Given the description of an element on the screen output the (x, y) to click on. 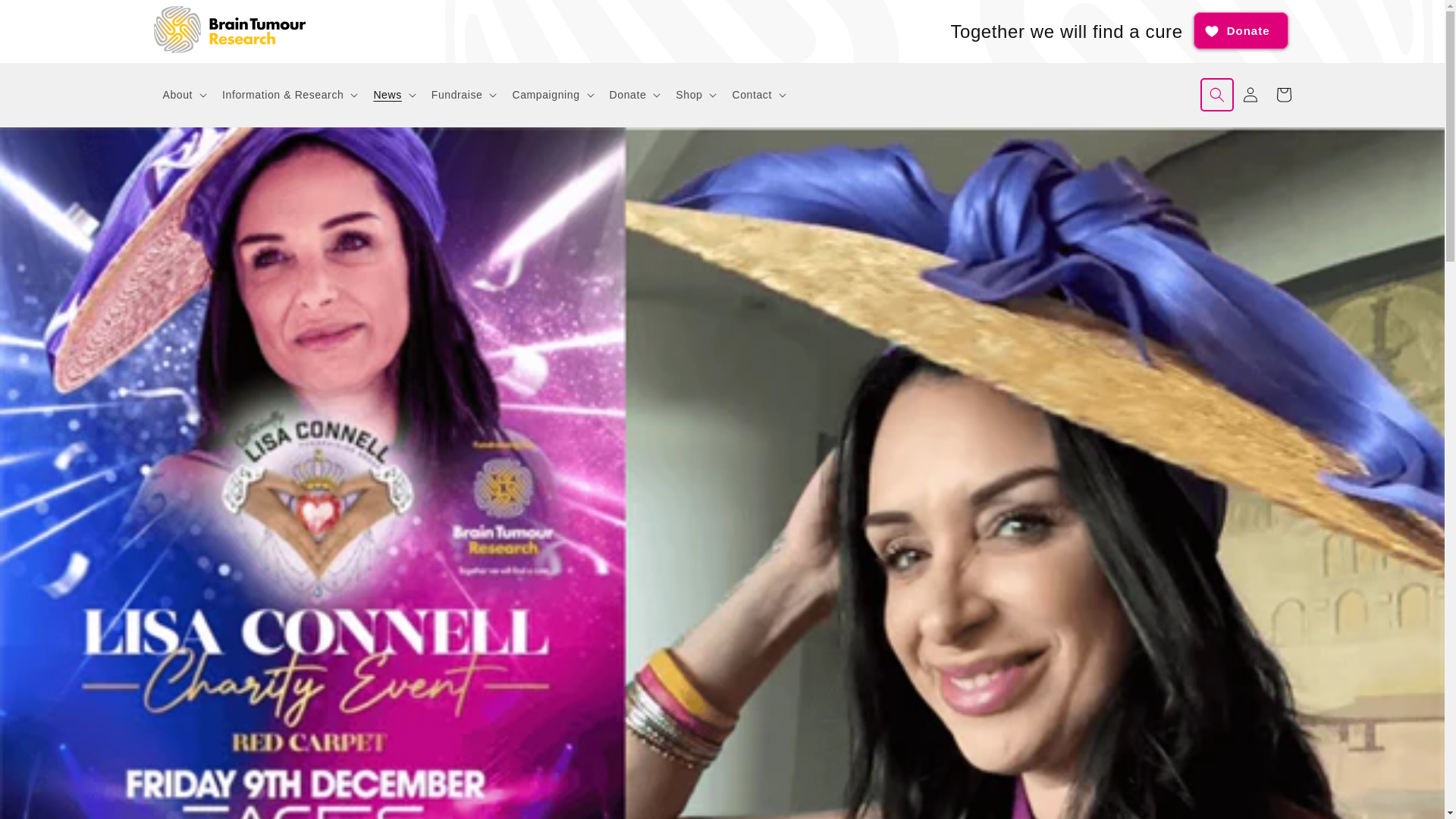
Skip to content (45, 17)
Donate (1241, 30)
